Given the description of an element on the screen output the (x, y) to click on. 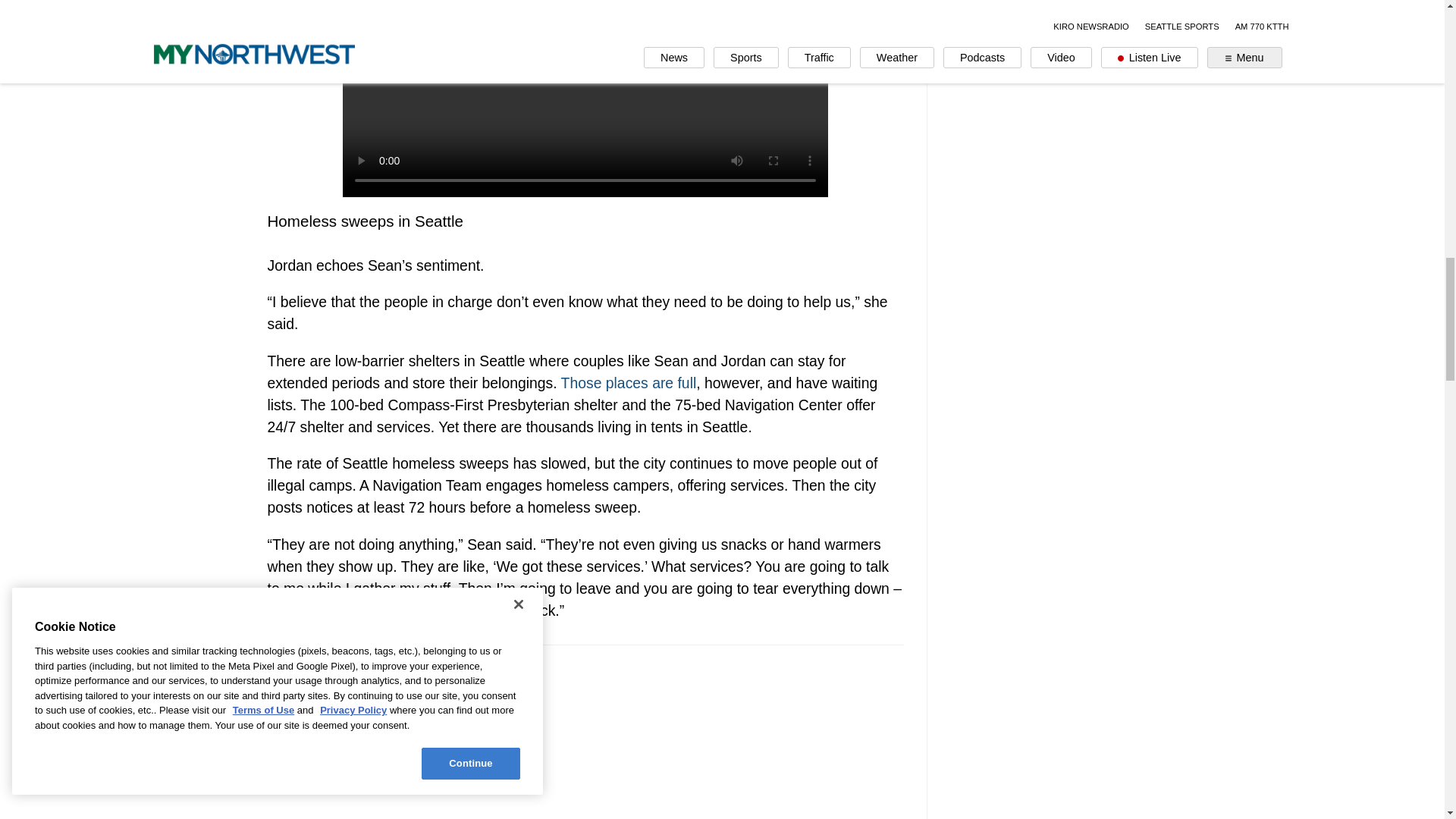
3rd party ad content (584, 743)
